Given the description of an element on the screen output the (x, y) to click on. 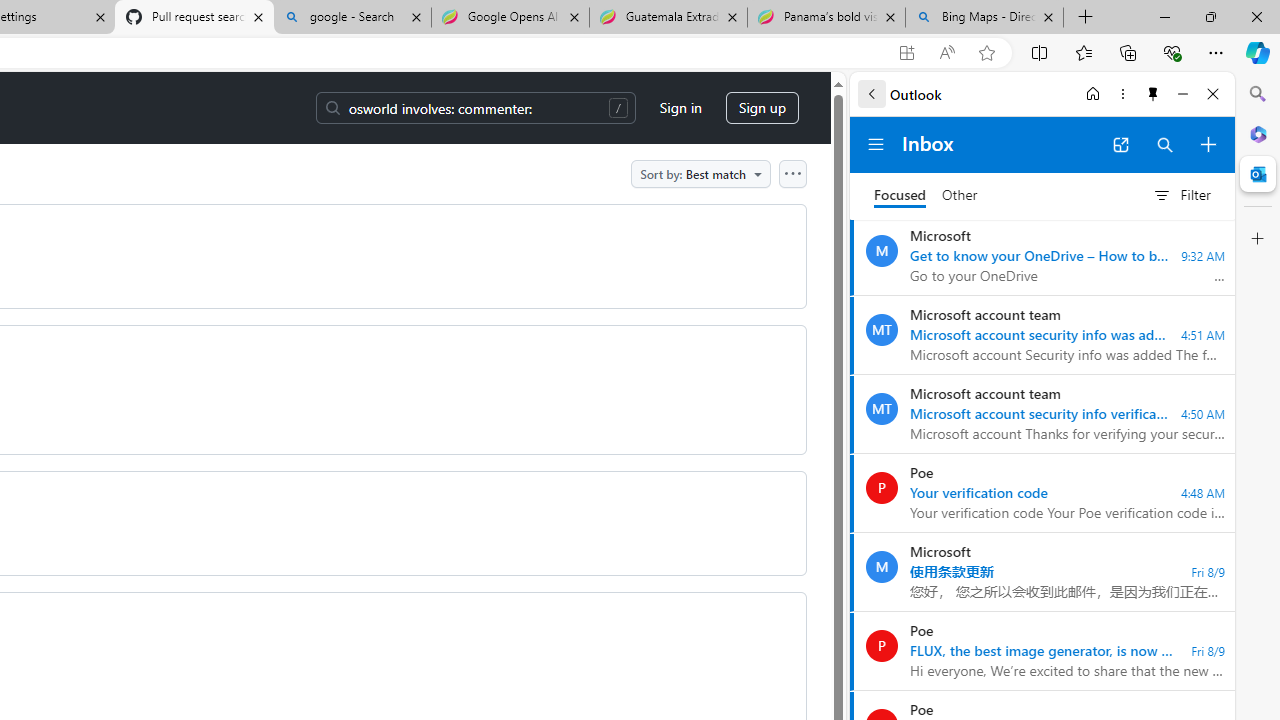
Folder navigation (876, 144)
google - Search (352, 17)
Open column options (792, 173)
Sort by: Best match (700, 173)
Open in new tab (1120, 144)
Focused (900, 195)
